Given the description of an element on the screen output the (x, y) to click on. 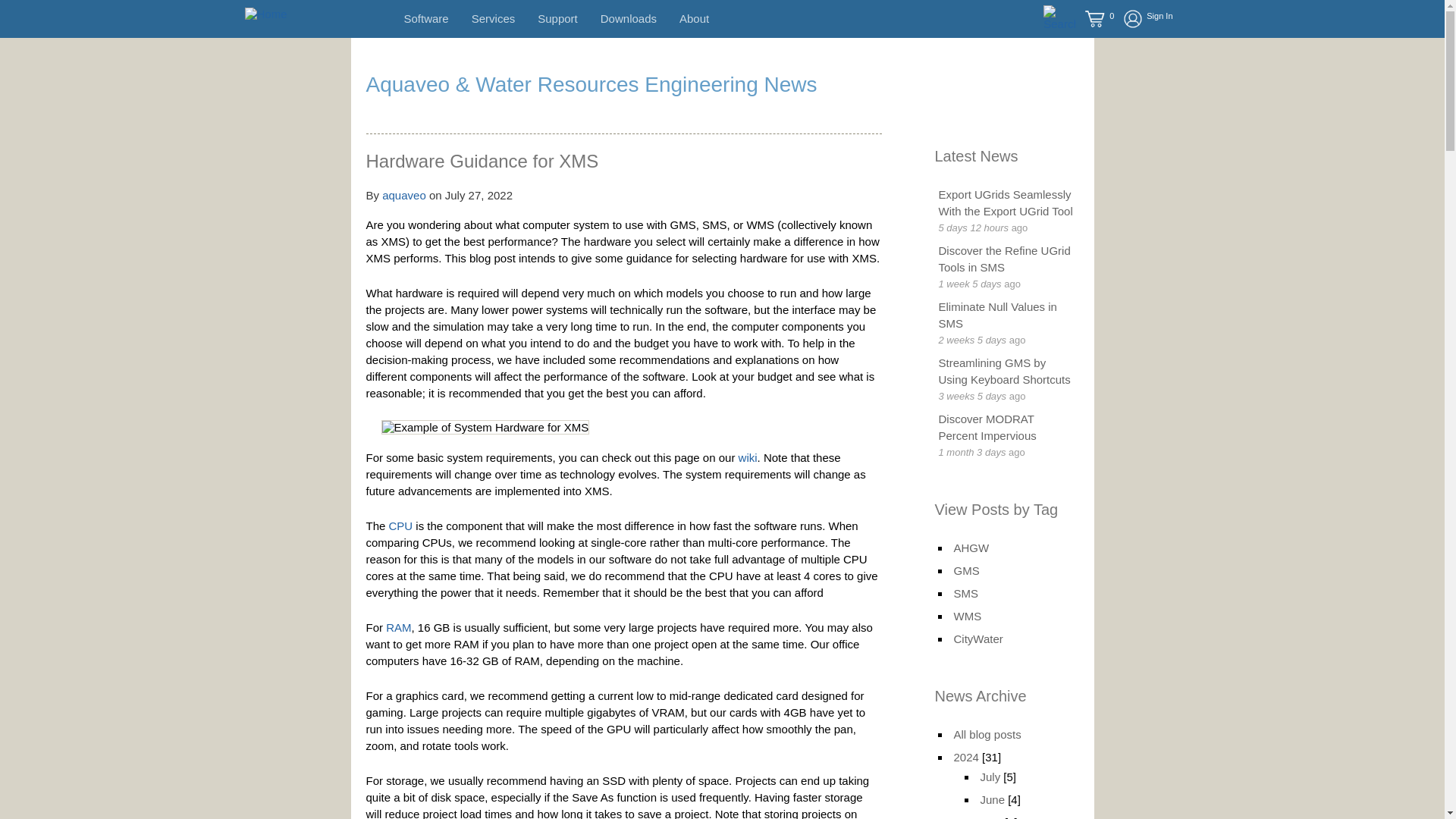
Hardware Guidance for XMS (481, 160)
Services (493, 18)
View user profile. (403, 195)
wiki (747, 457)
Support (557, 18)
Downloads (627, 18)
aquaveo (403, 195)
Sign In (1142, 18)
RAM (397, 626)
Home (265, 13)
About (694, 18)
Software (425, 18)
CPU (400, 525)
